Given the description of an element on the screen output the (x, y) to click on. 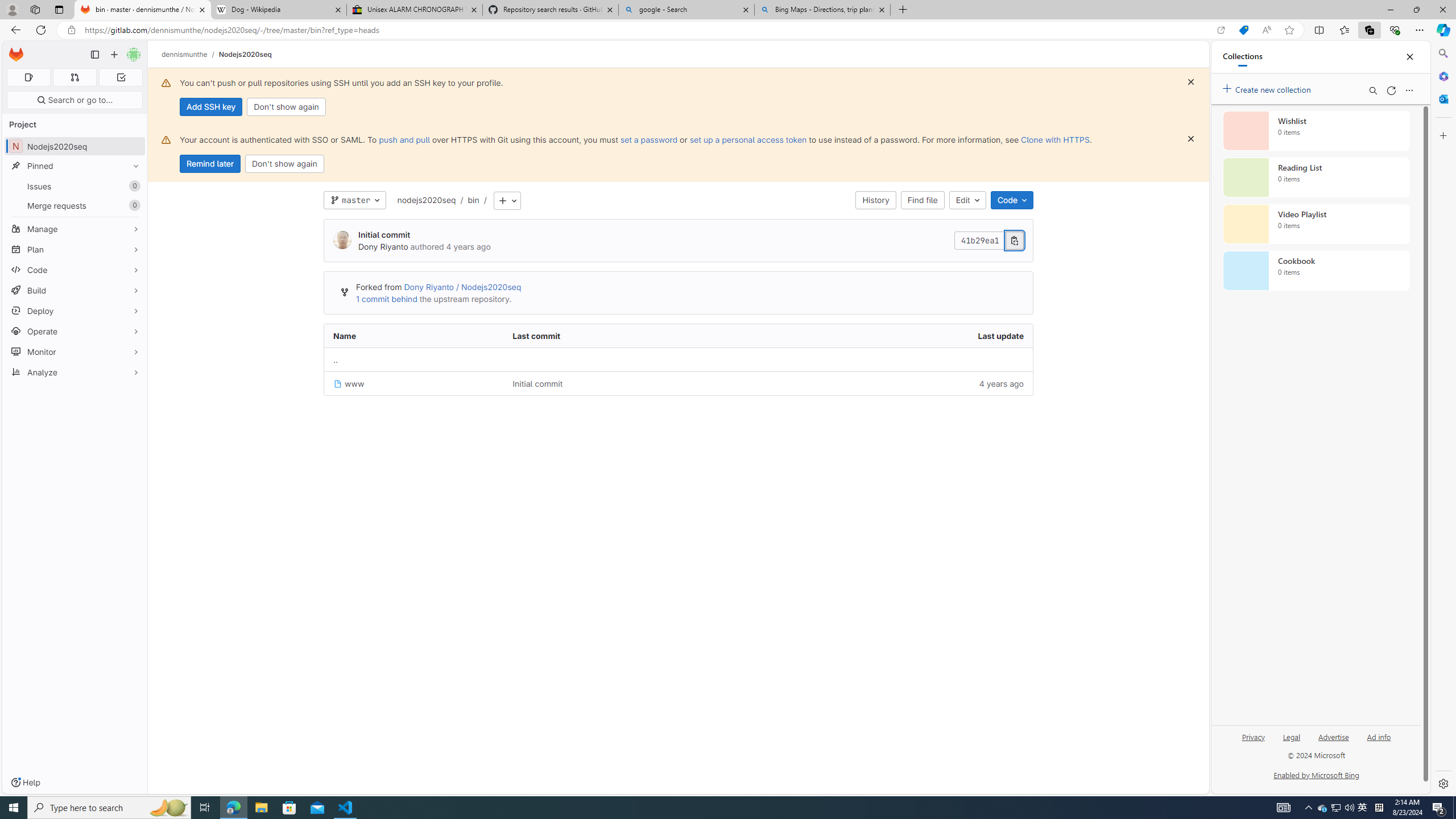
nodejs2020seq (426, 200)
Class: tree-item (678, 383)
Code (1011, 199)
Clone with HTTPS (1054, 139)
Create new collection (1268, 87)
Reading List collection, 0 items (1316, 177)
Nodejs2020seq (245, 53)
Issues0 (74, 185)
Add SSH key (211, 106)
Plan (74, 248)
